Given the description of an element on the screen output the (x, y) to click on. 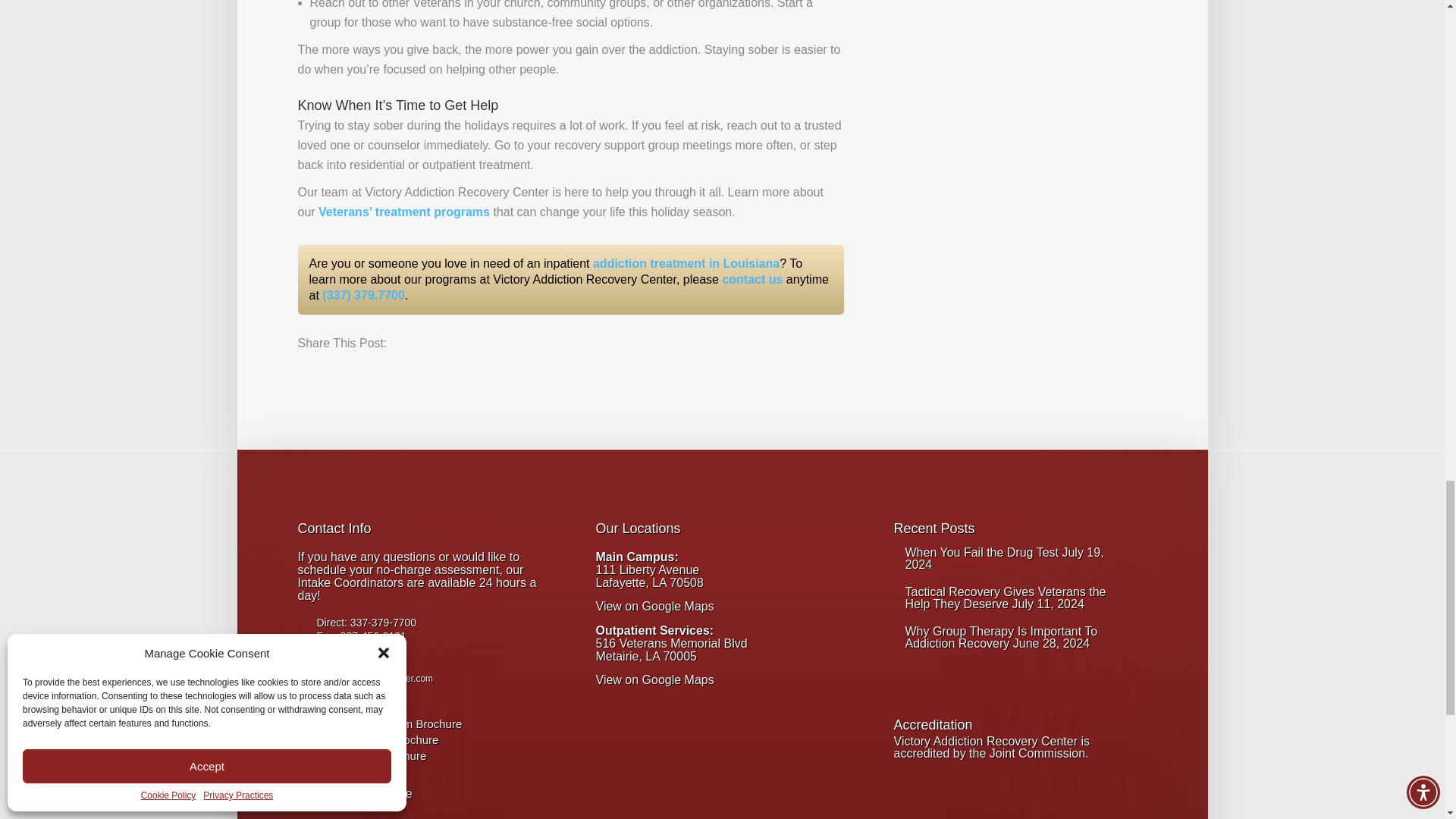
Share on Facebook (309, 372)
Share on Twitter (338, 372)
Pin it with Pinterest (365, 372)
Share by email (421, 372)
Share on Linkedin (393, 372)
